Given the description of an element on the screen output the (x, y) to click on. 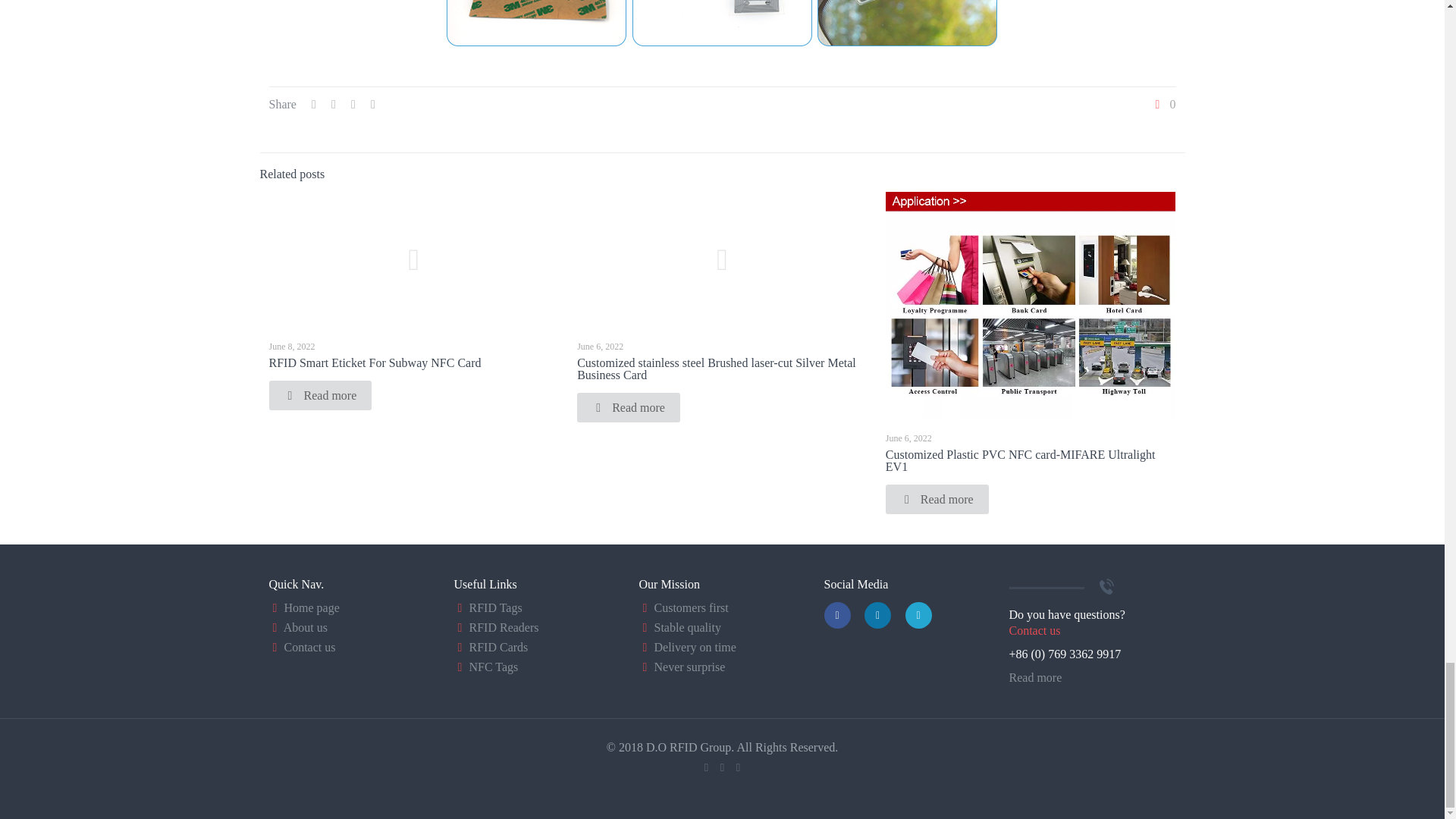
Read more (627, 407)
LinkedIn (738, 767)
YouTube (722, 767)
Read more (936, 499)
RFID Smart Eticket For Subway NFC Card (373, 362)
Facebook (705, 767)
About us (305, 626)
0 (1162, 104)
Home page (311, 607)
Read more (319, 395)
